Given the description of an element on the screen output the (x, y) to click on. 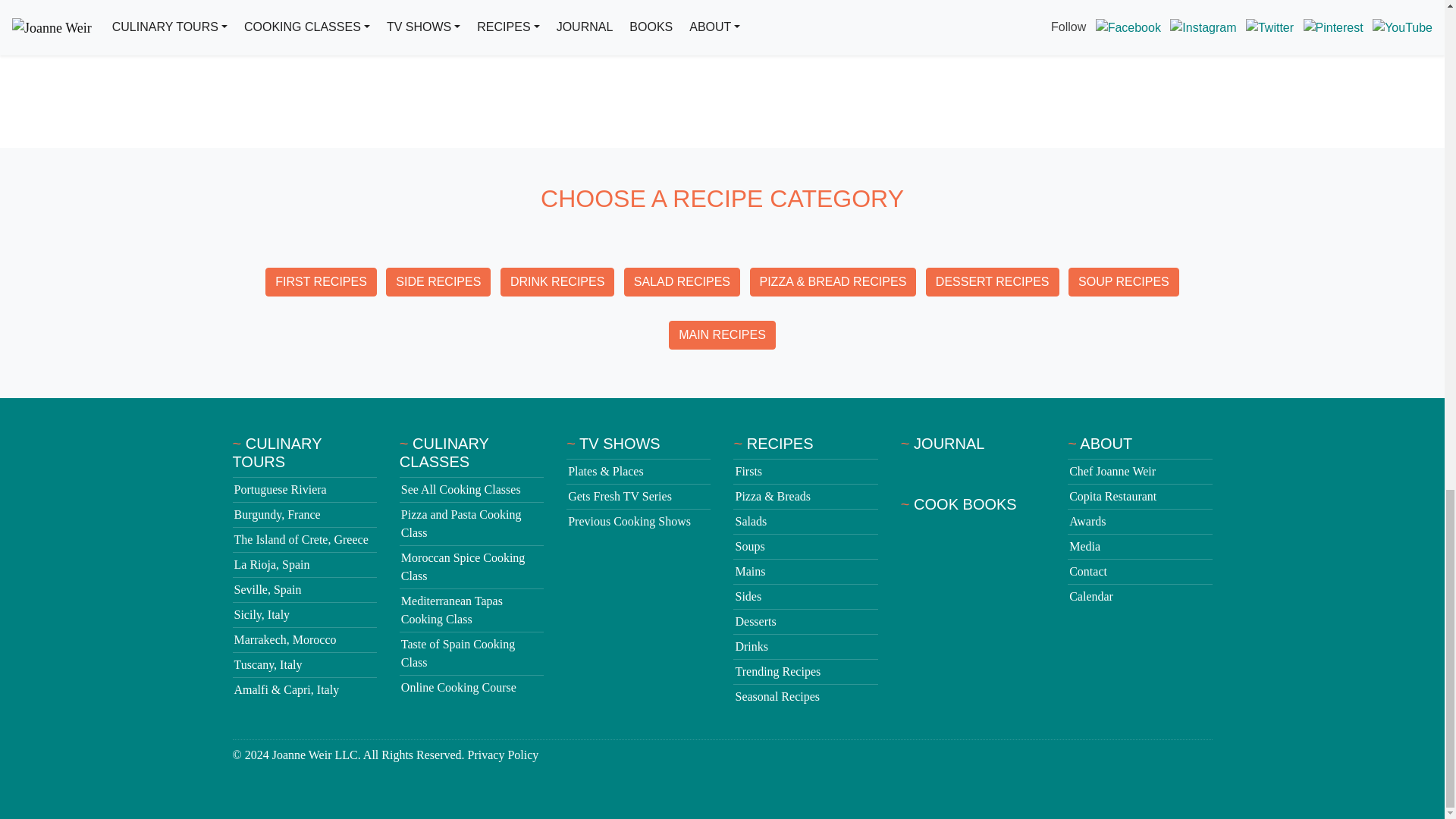
Go (1200, 26)
